Given the description of an element on the screen output the (x, y) to click on. 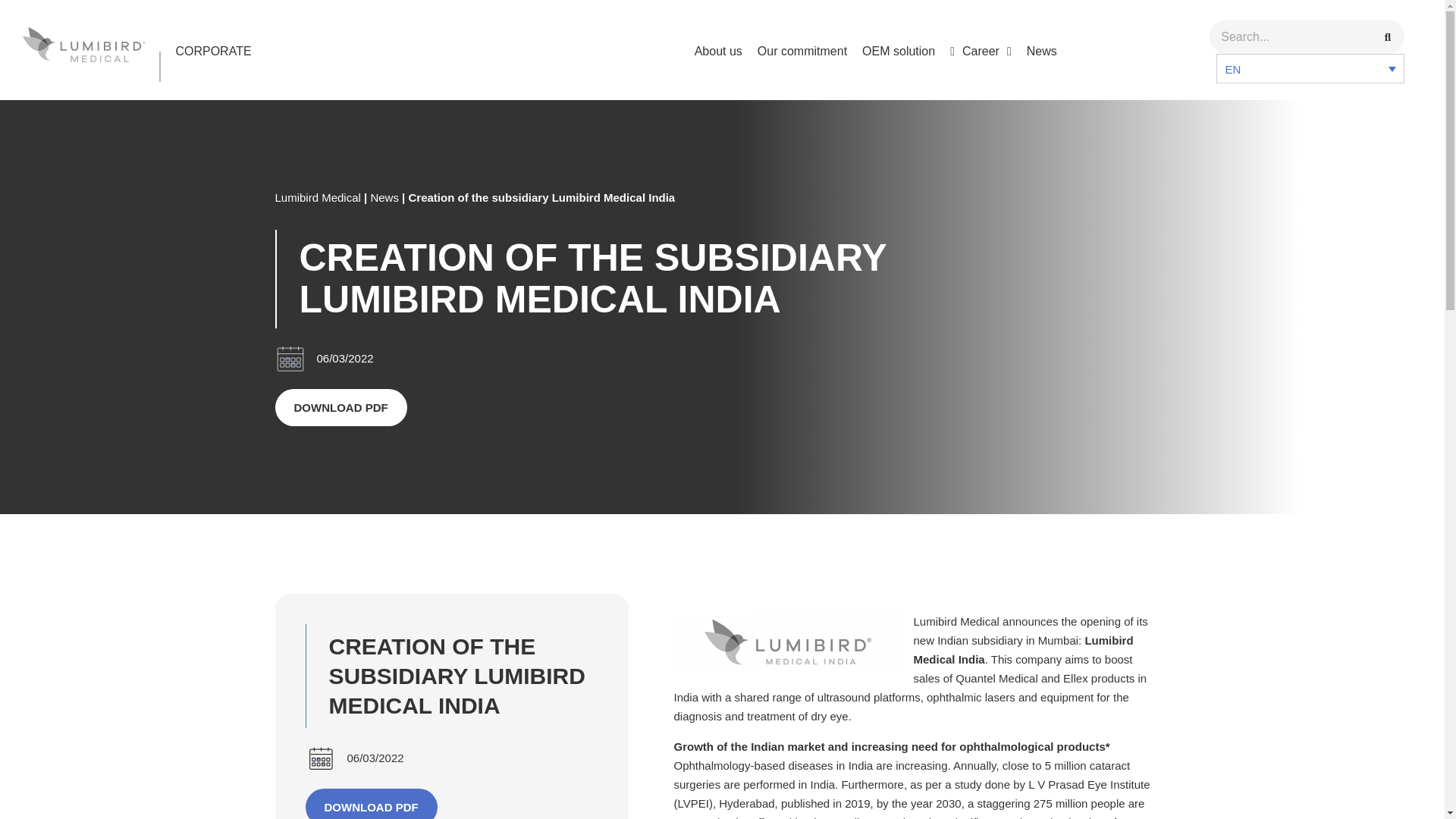
Creation of the subsidiary Lumibird Medical India 1 (786, 641)
OEM solution (898, 51)
Lumibird Medical (317, 196)
DOWNLOAD PDF (340, 407)
News (383, 196)
News (1041, 51)
Our commitment (801, 51)
EN (1310, 68)
Career (980, 51)
About us (718, 51)
